Given the description of an element on the screen output the (x, y) to click on. 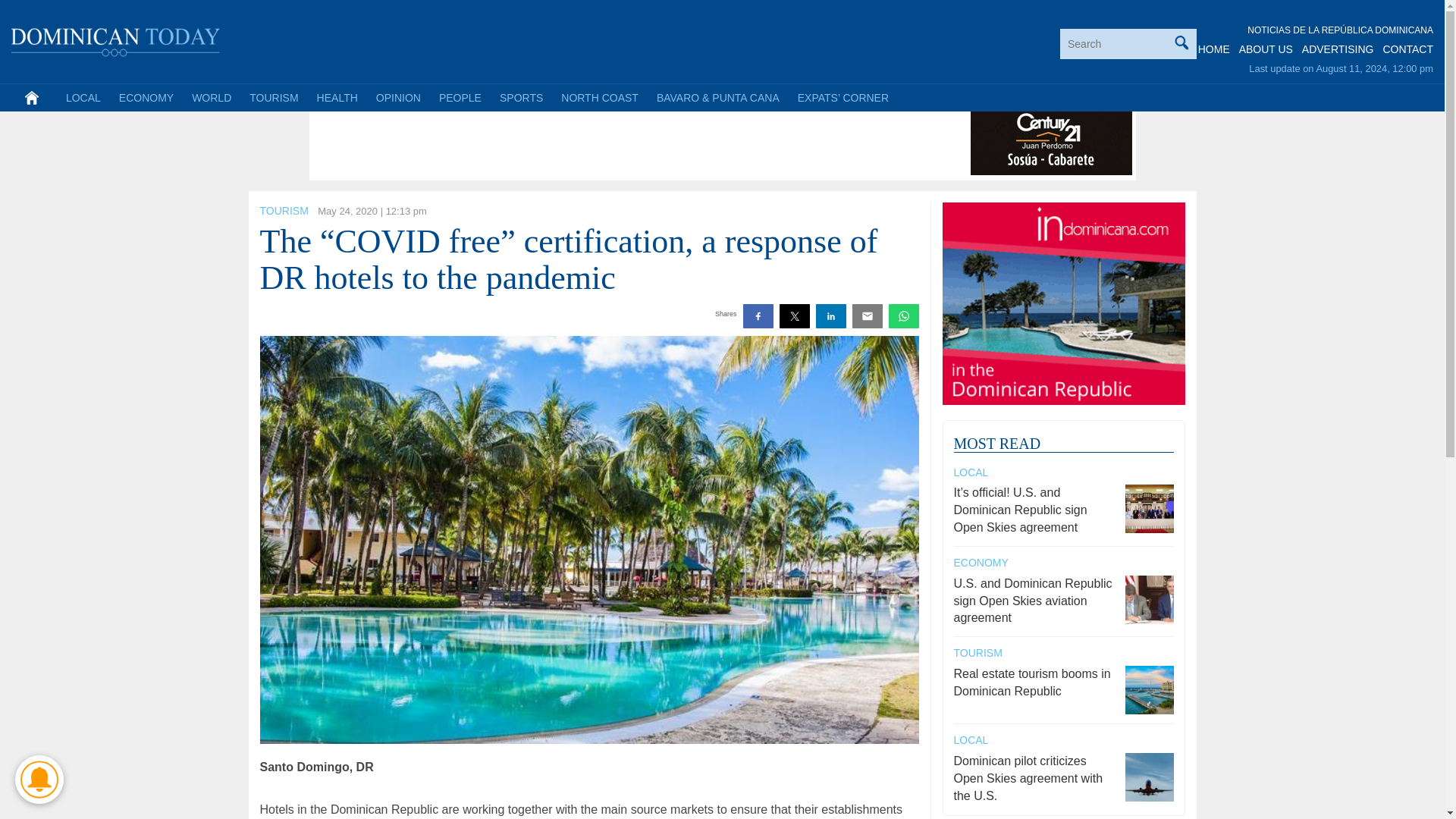
ADVERTISING (1337, 49)
CONTACT (1406, 49)
Dominican Today News - Santo Domingo and Dominican Republic (116, 38)
TOURISM (273, 97)
OPINION (397, 97)
LOCAL (83, 97)
ECONOMY (146, 97)
HEALTH (336, 97)
TOURISM (283, 210)
